Given the description of an element on the screen output the (x, y) to click on. 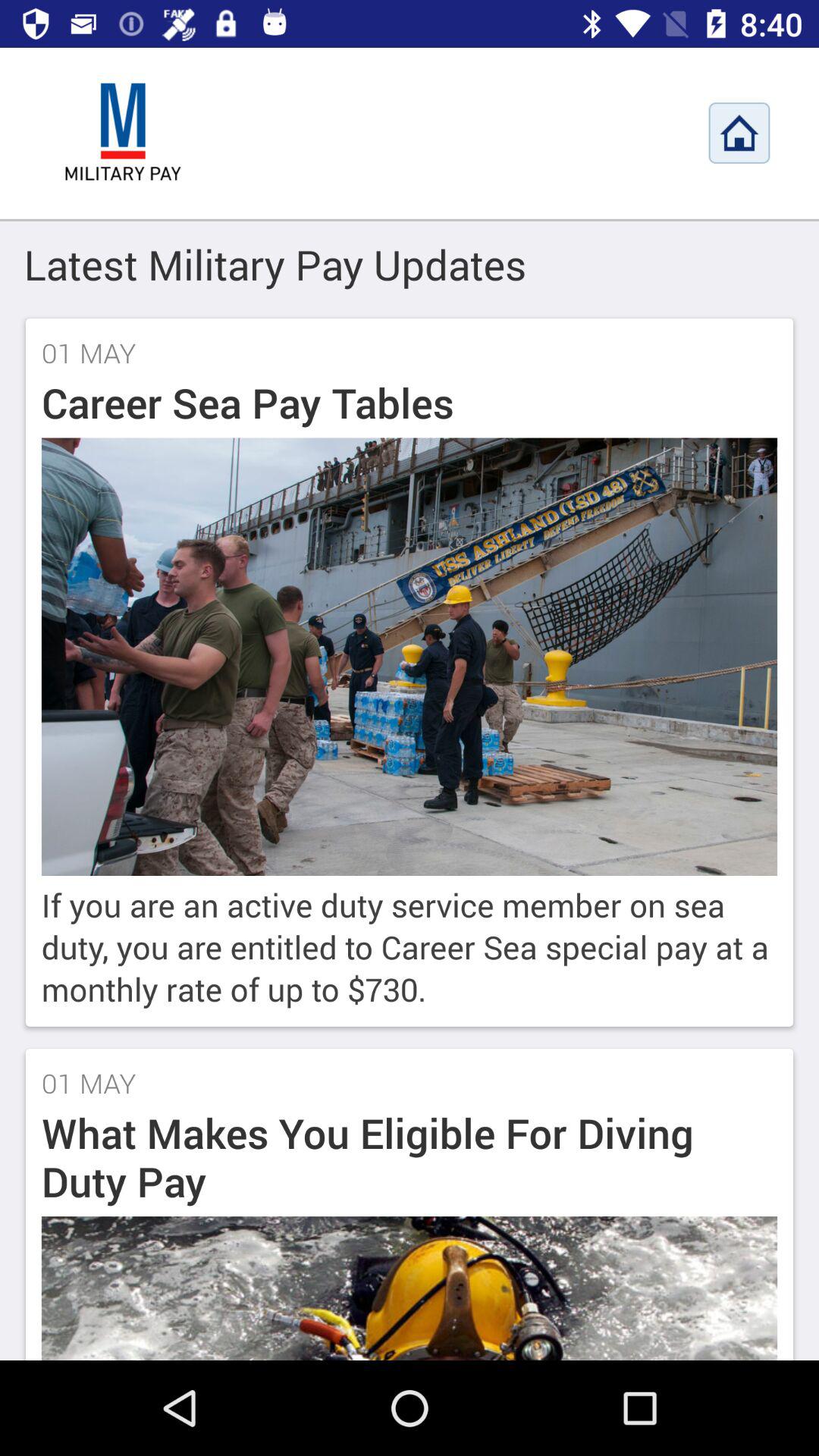
go to main page (123, 132)
